Given the description of an element on the screen output the (x, y) to click on. 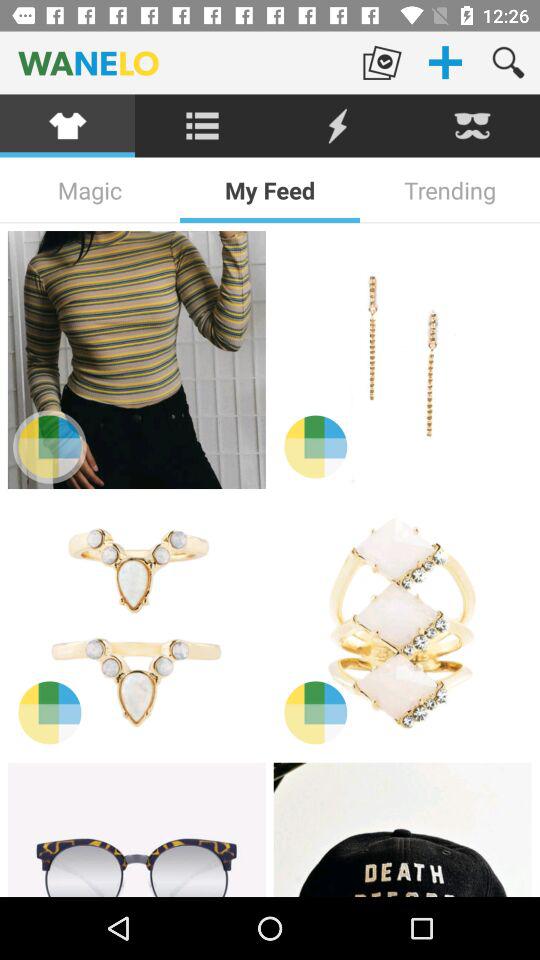
color pallet (315, 446)
